Given the description of an element on the screen output the (x, y) to click on. 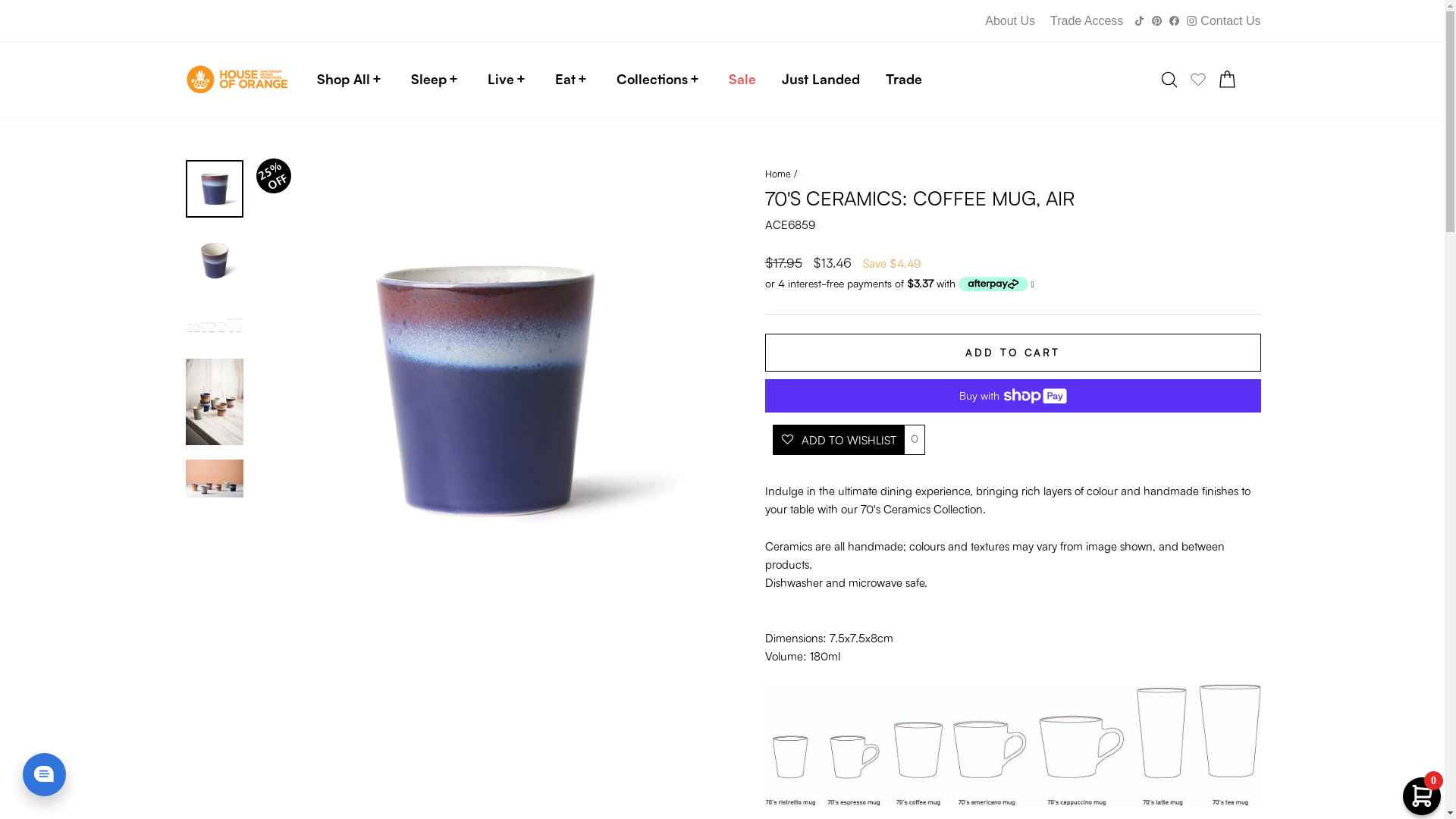
Search Element type: text (1169, 78)
About Us Element type: text (1009, 21)
Sleep Element type: text (427, 79)
TikTok Element type: text (1139, 20)
Shop All Element type: text (342, 79)
ADD TO CART Element type: text (1012, 352)
Contact Us Element type: text (1230, 20)
Live Element type: text (500, 79)
Cart Element type: text (1226, 78)
Trade Element type: text (902, 79)
Sale Element type: text (742, 79)
Skip to content Element type: text (0, 0)
Trade Access Element type: text (1086, 21)
Facebook Element type: text (1174, 20)
Pinterest Element type: text (1156, 20)
Eat Element type: text (564, 79)
Instagram Element type: text (1191, 20)
Collections Element type: text (652, 79)
Just Landed Element type: text (820, 79)
Home Element type: text (777, 173)
ADD TO WISHLIST Element type: text (837, 439)
